Given the description of an element on the screen output the (x, y) to click on. 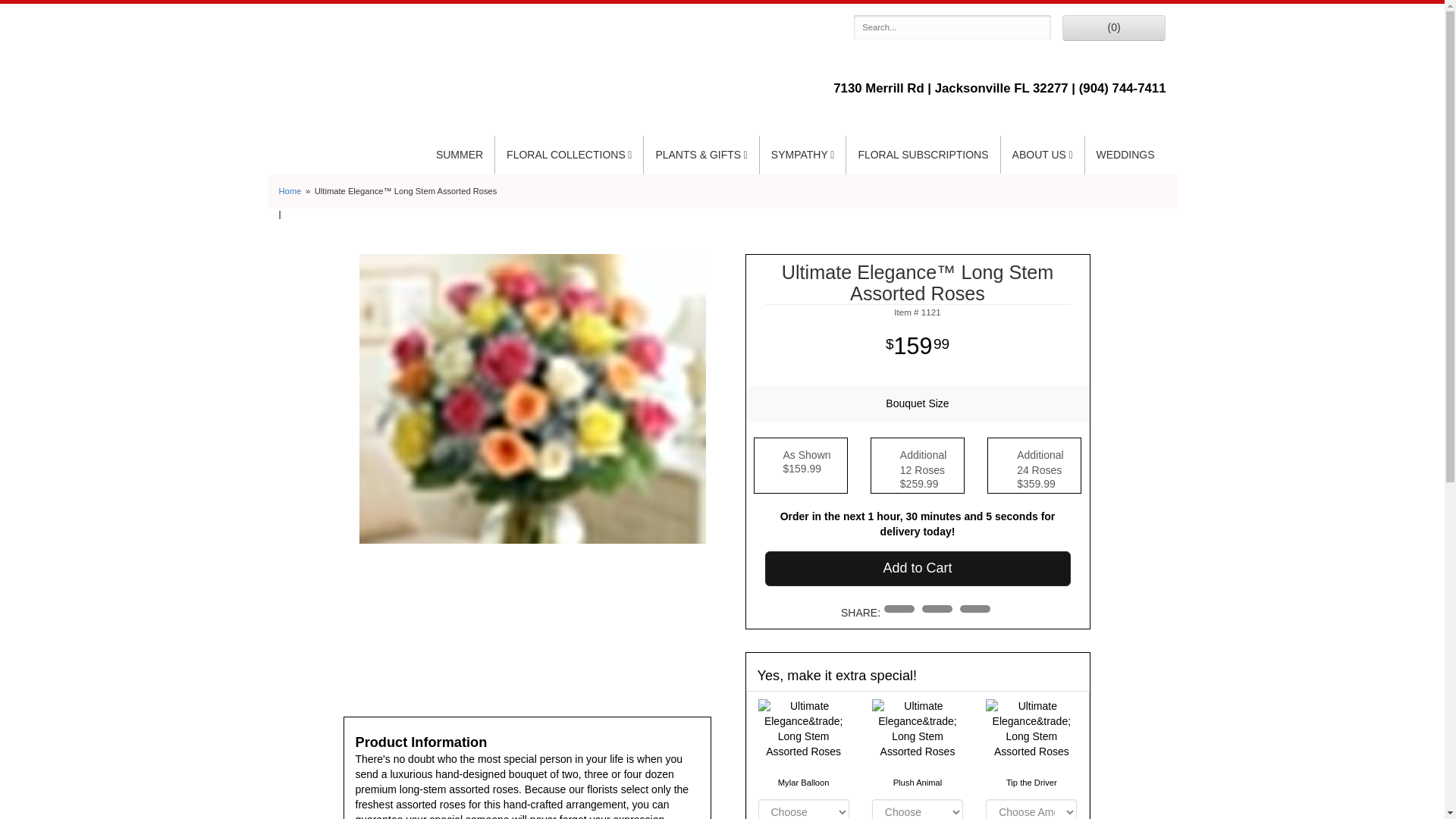
FLORAL COLLECTIONS (569, 154)
Add to Cart (917, 568)
FLORAL SUBSCRIPTIONS (921, 154)
Arlington Flower Shop (408, 60)
Home (290, 190)
ABOUT US (1042, 154)
SUMMER (460, 154)
SYMPATHY (802, 154)
WEDDINGS (1125, 154)
